Given the description of an element on the screen output the (x, y) to click on. 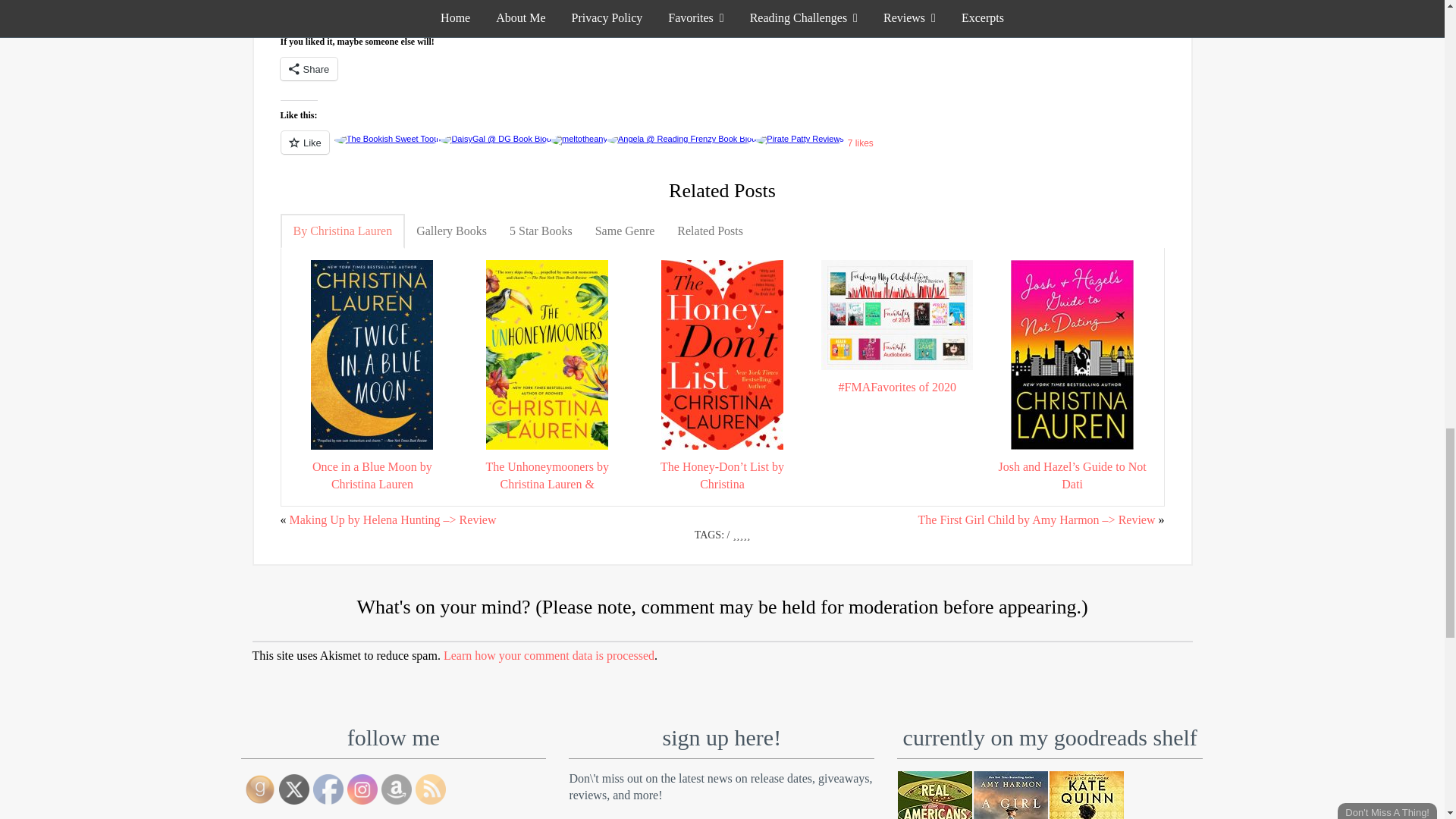
Twitter (293, 788)
Facebook (327, 788)
Goodreads (259, 788)
Like or Reblog (722, 150)
Instagram (362, 788)
